Given the description of an element on the screen output the (x, y) to click on. 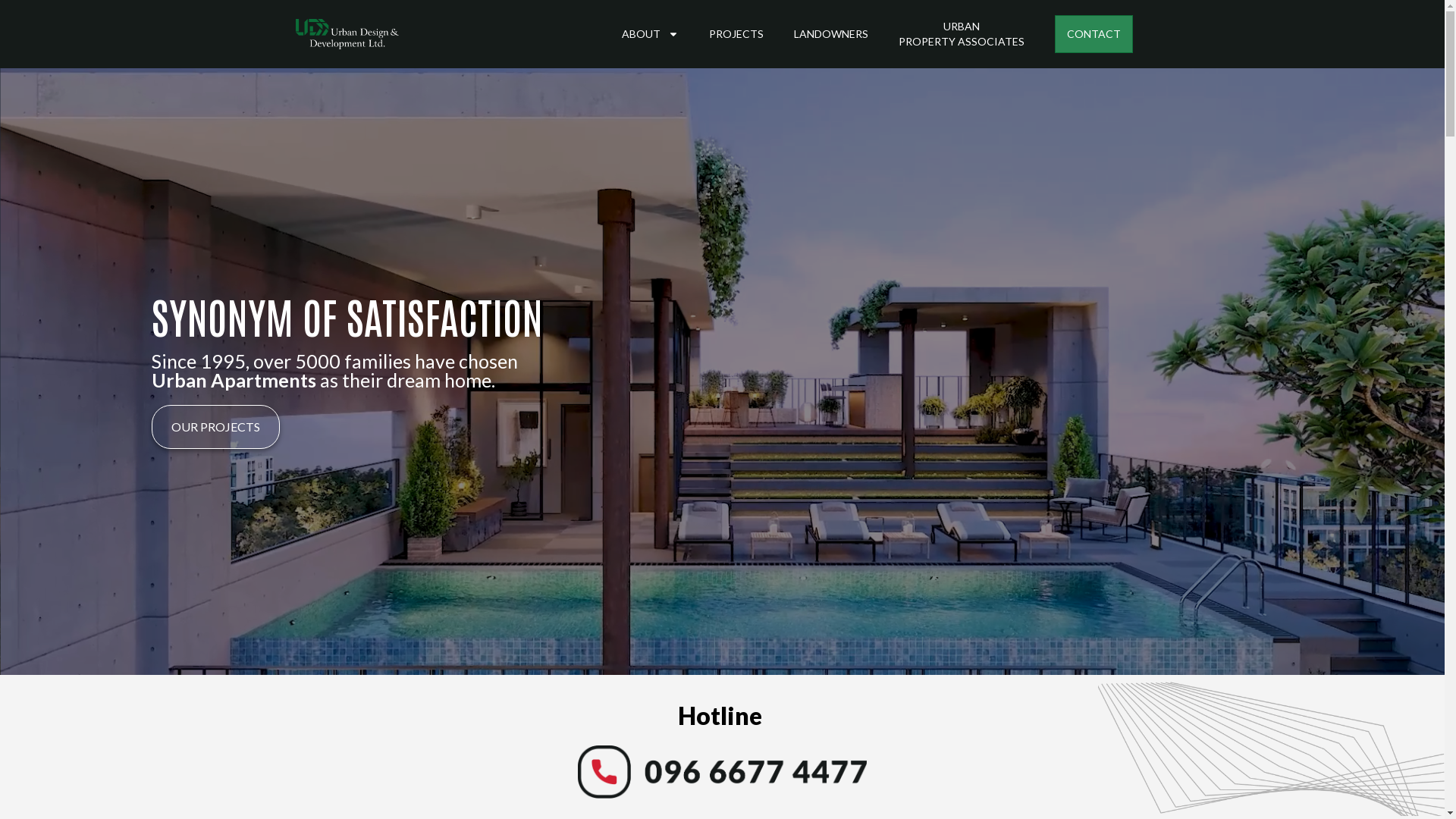
OUR PROJECTS Element type: text (215, 426)
CONTACT Element type: text (1093, 34)
LANDOWNERS Element type: text (830, 33)
PROJECTS Element type: text (735, 33)
URBAN
PROPERTY ASSOCIATES Element type: text (961, 33)
ABOUT Element type: text (649, 33)
